Given the description of an element on the screen output the (x, y) to click on. 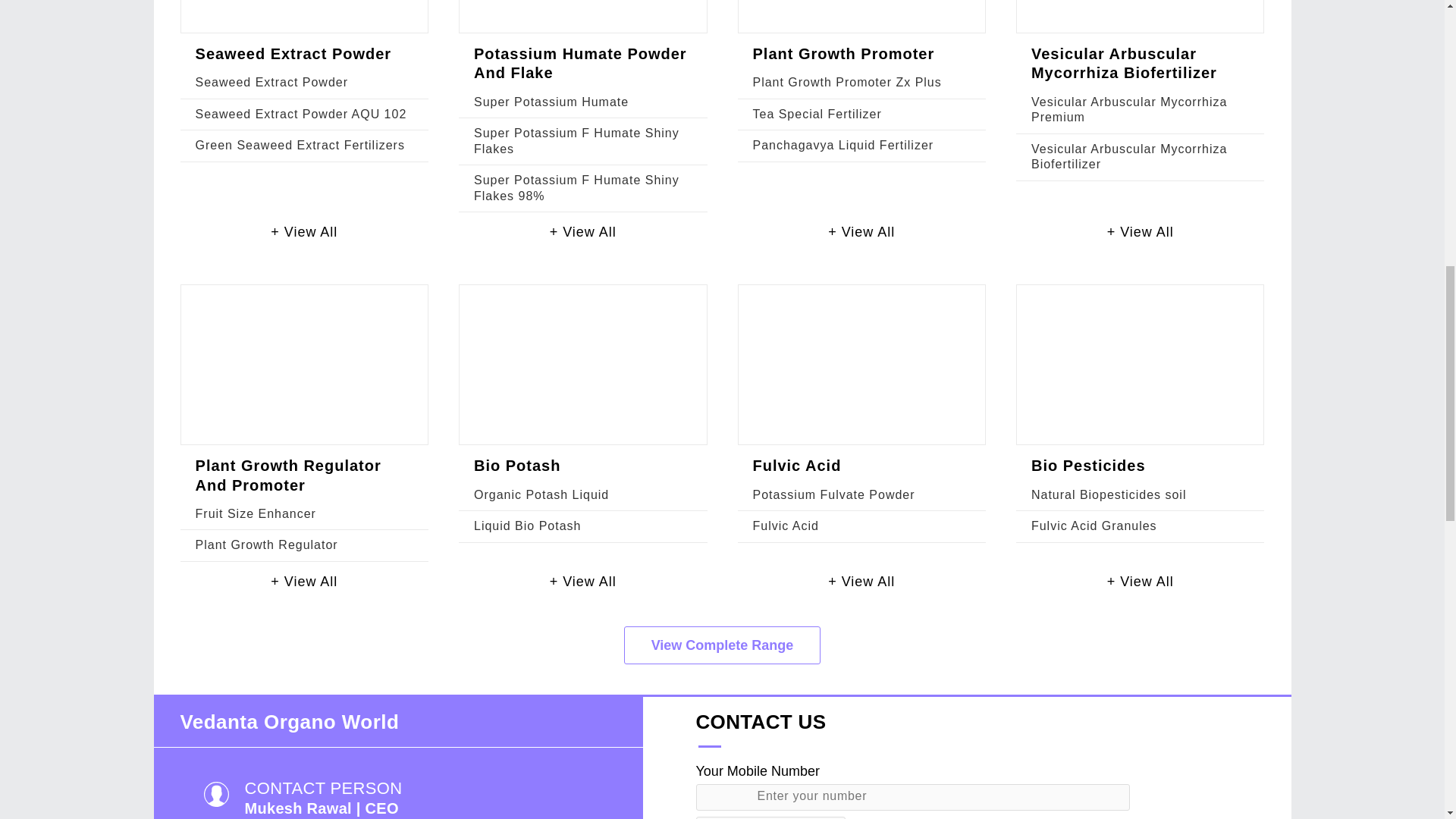
Seaweed Extract Powder (271, 82)
Super Potassium F Humate Shiny Flakes (576, 140)
Seaweed Extract Powder (293, 53)
Green Seaweed Extract Fertilizers (299, 144)
Seaweed Extract Powder AQU 102 (301, 113)
Panchagavya Liquid Fertilizer (842, 144)
Potassium Humate Powder And Flake (580, 63)
Plant Growth Promoter Zx Plus (846, 82)
Tea Special Fertilizer (816, 113)
Super Potassium Humate (551, 101)
Plant Growth Promoter (843, 53)
